Given the description of an element on the screen output the (x, y) to click on. 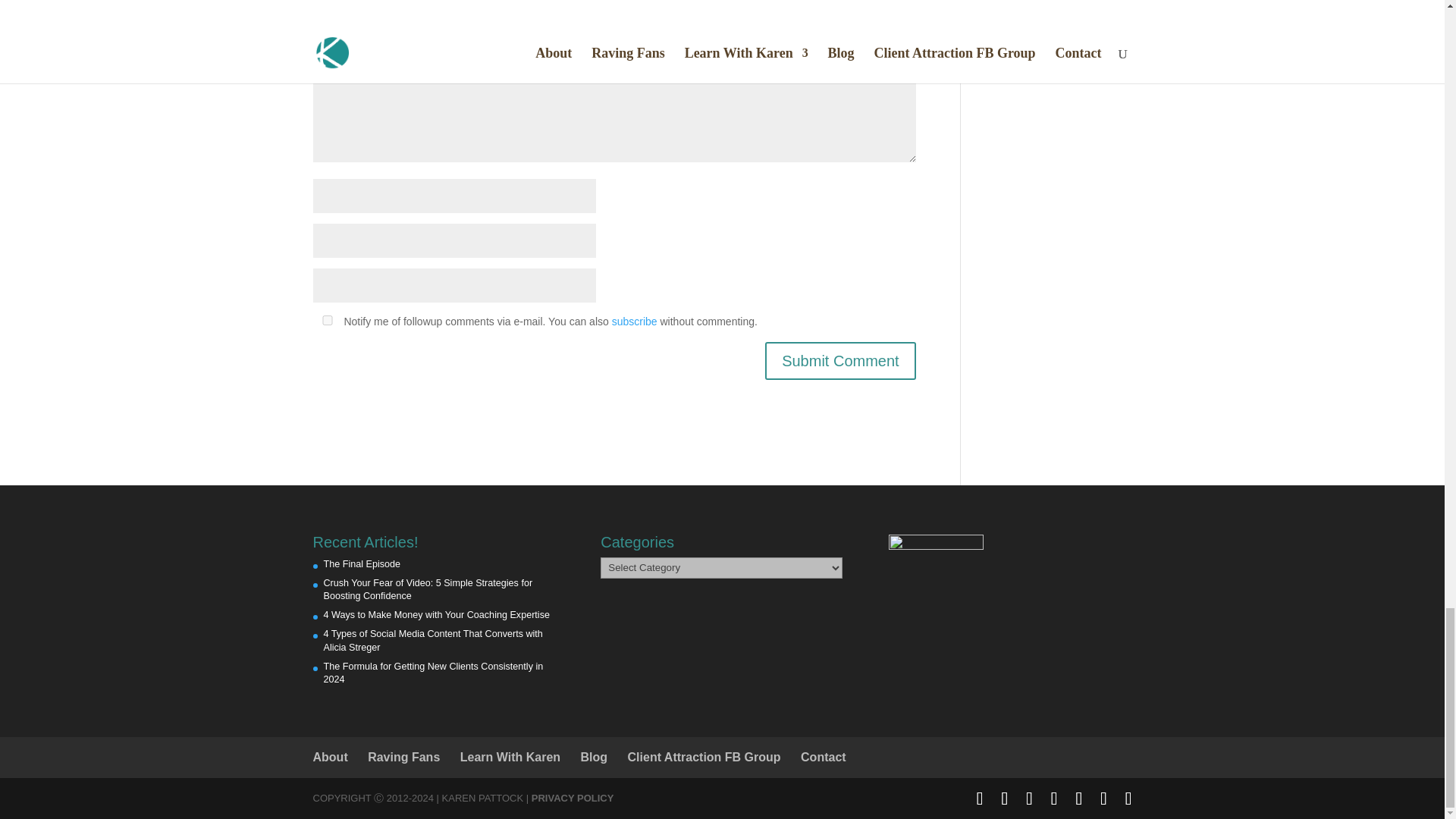
Submit Comment (840, 361)
yes (326, 320)
